Given the description of an element on the screen output the (x, y) to click on. 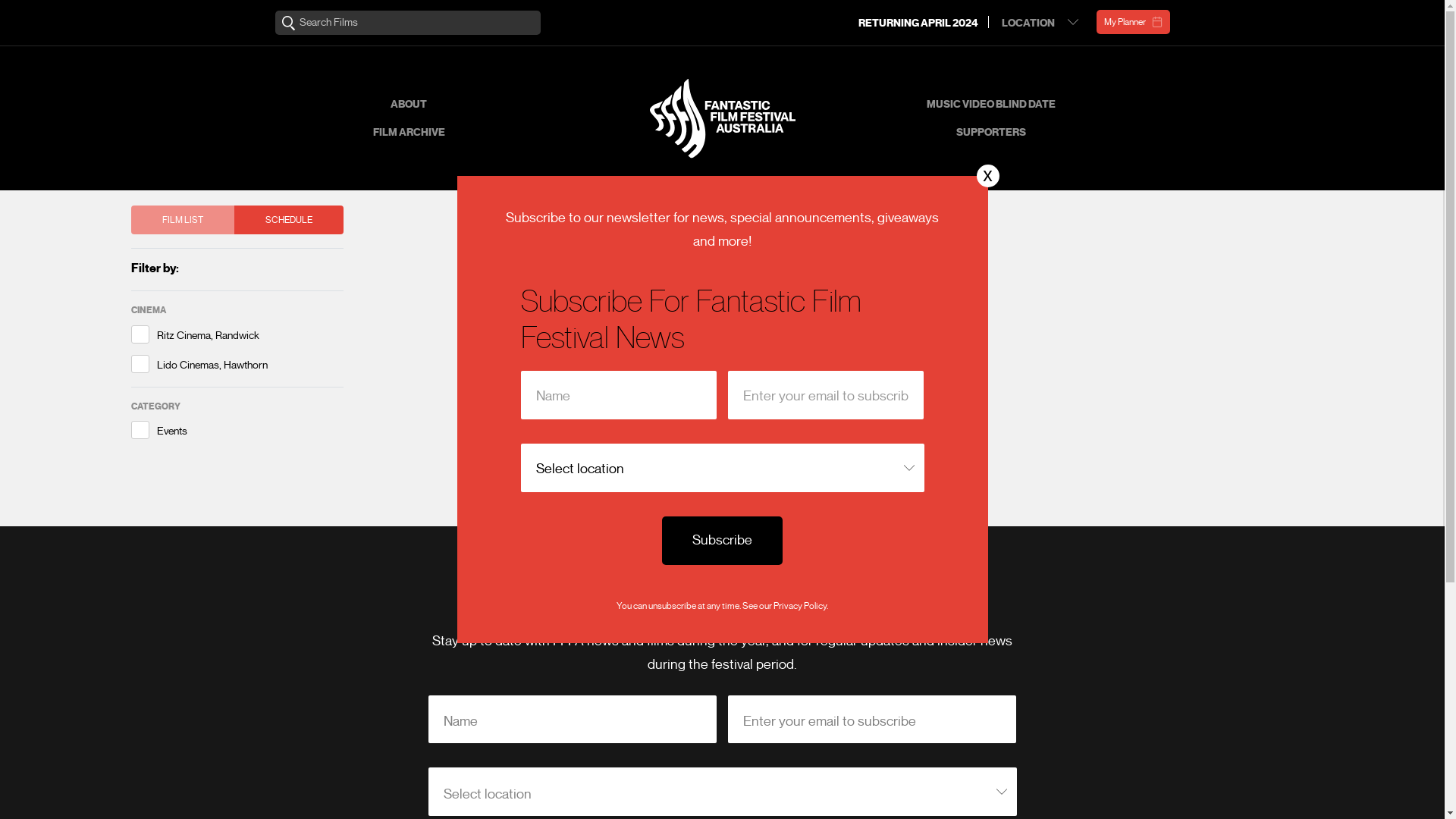
SUPPORTERS Element type: text (990, 131)
Privacy Policy Element type: text (799, 605)
Subscribe Element type: text (722, 540)
MUSIC VIDEO BLIND DATE Element type: text (990, 103)
FILM LIST Element type: text (181, 219)
FILM ARCHIVE Element type: text (409, 131)
SCHEDULE Element type: text (287, 219)
My Planner Element type: text (1133, 21)
ABOUT Element type: text (408, 103)
